Given the description of an element on the screen output the (x, y) to click on. 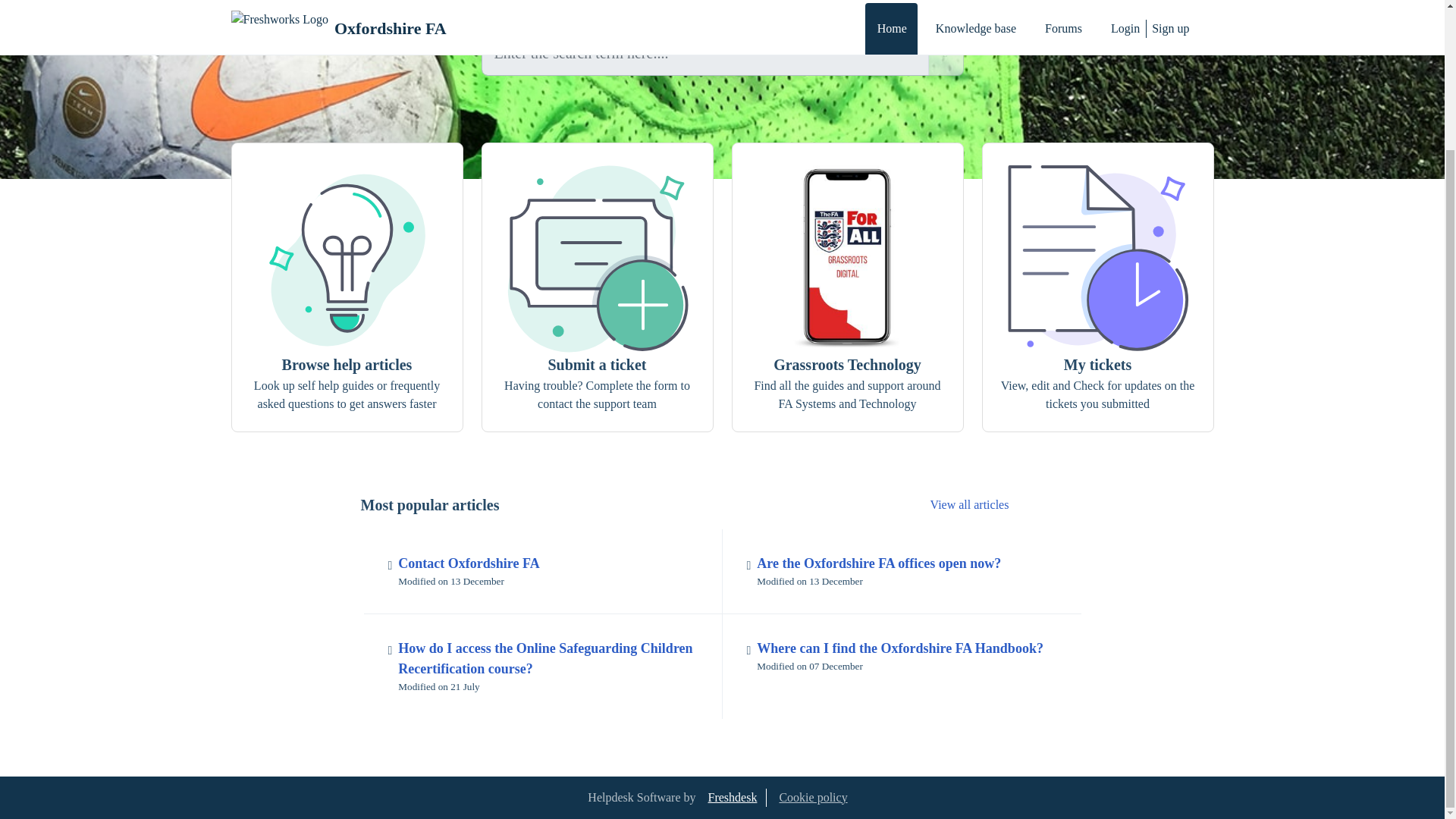
Freshdesk (732, 797)
View all articles (543, 571)
Cookie policy (969, 504)
